Given the description of an element on the screen output the (x, y) to click on. 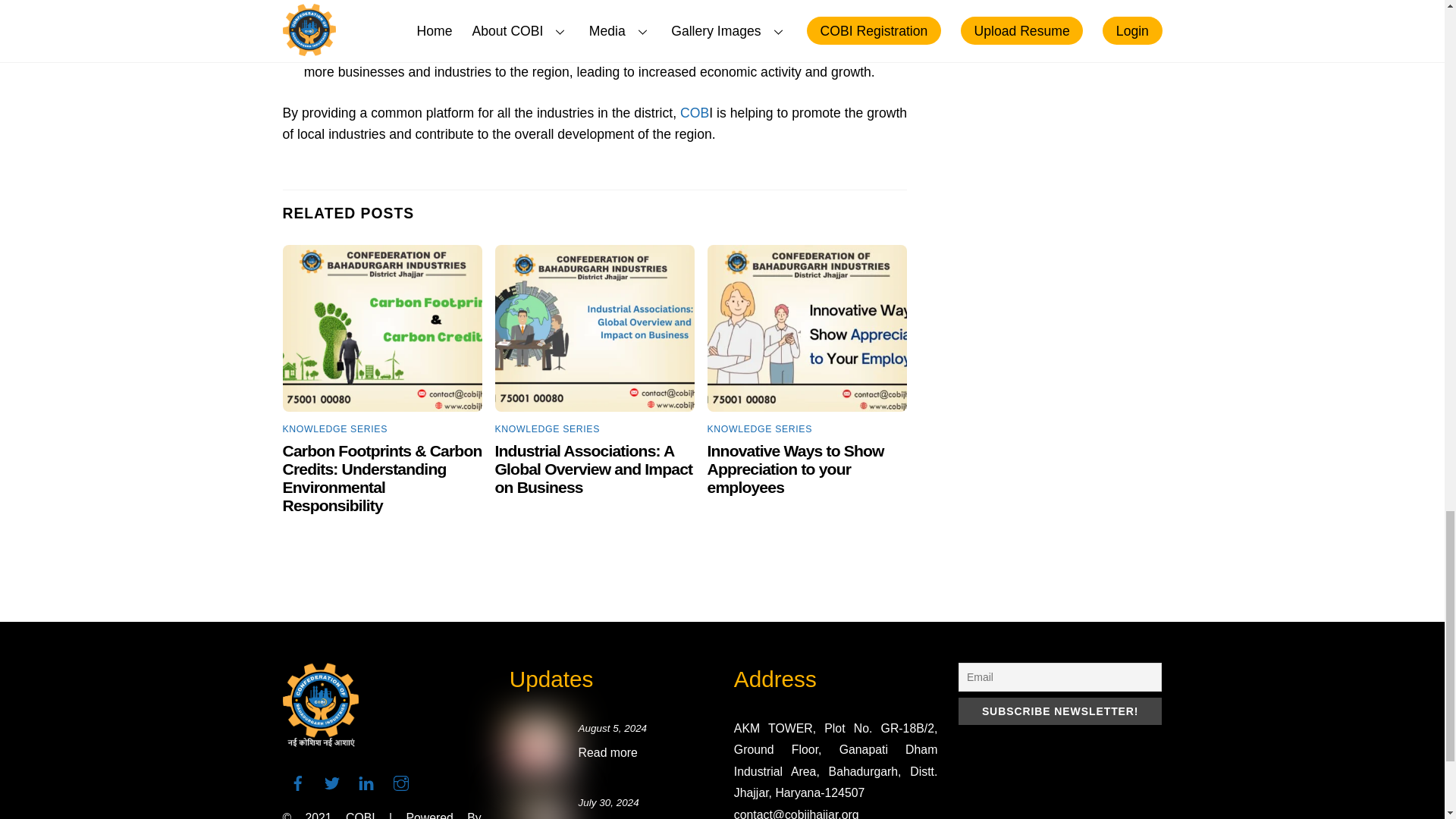
newsletter (537, 746)
Subscribe Newsletter! (1059, 710)
Appreciation to your employees (807, 328)
COBI Jhajjar (320, 741)
Industrial Associations (595, 328)
